Given the description of an element on the screen output the (x, y) to click on. 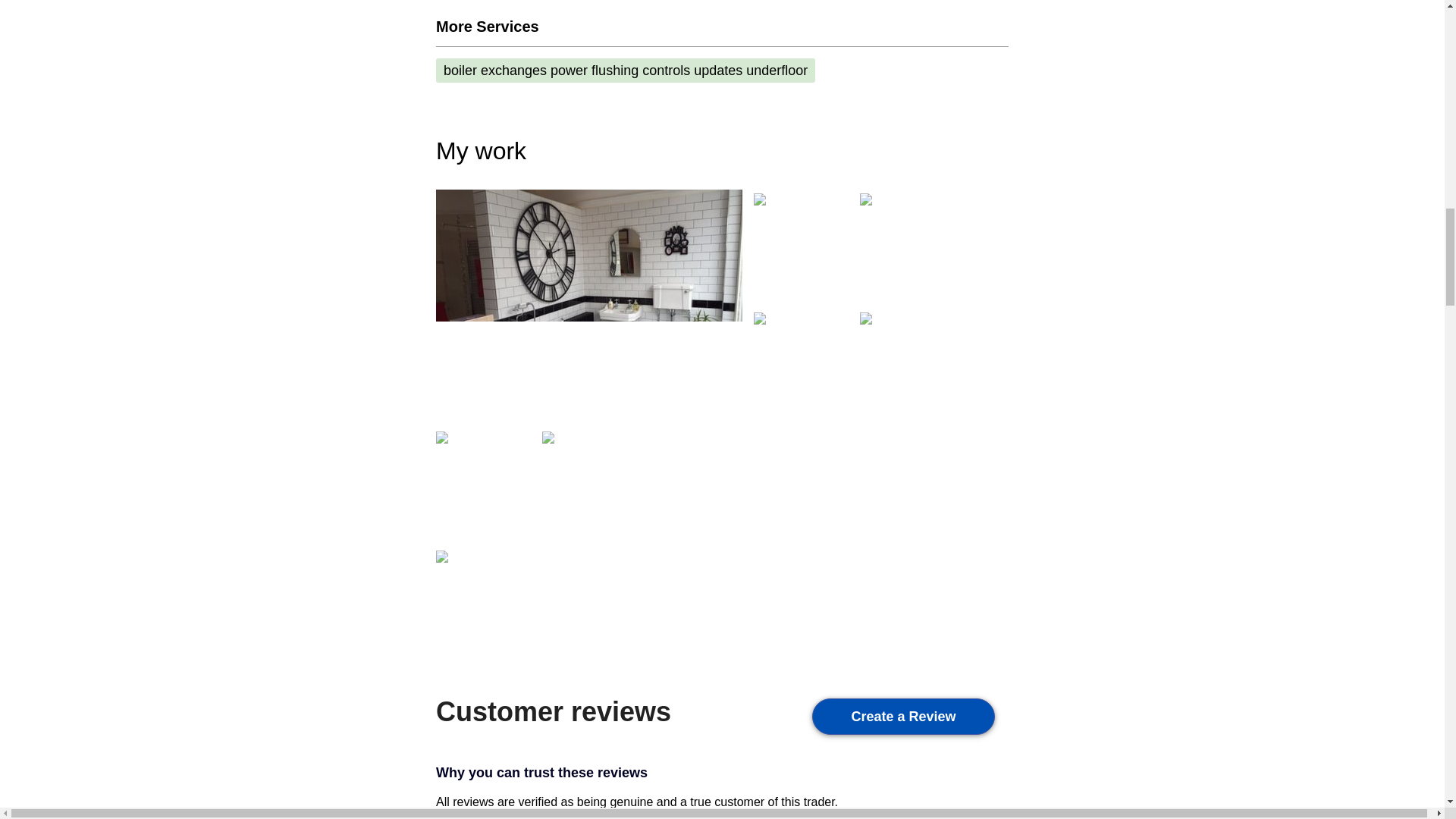
image.jpg (547, 436)
image.jpg (866, 317)
image.jpg (441, 436)
image.jpg (759, 197)
CIPHELOGO 2.jpg (759, 317)
image.jpg (441, 554)
